Given the description of an element on the screen output the (x, y) to click on. 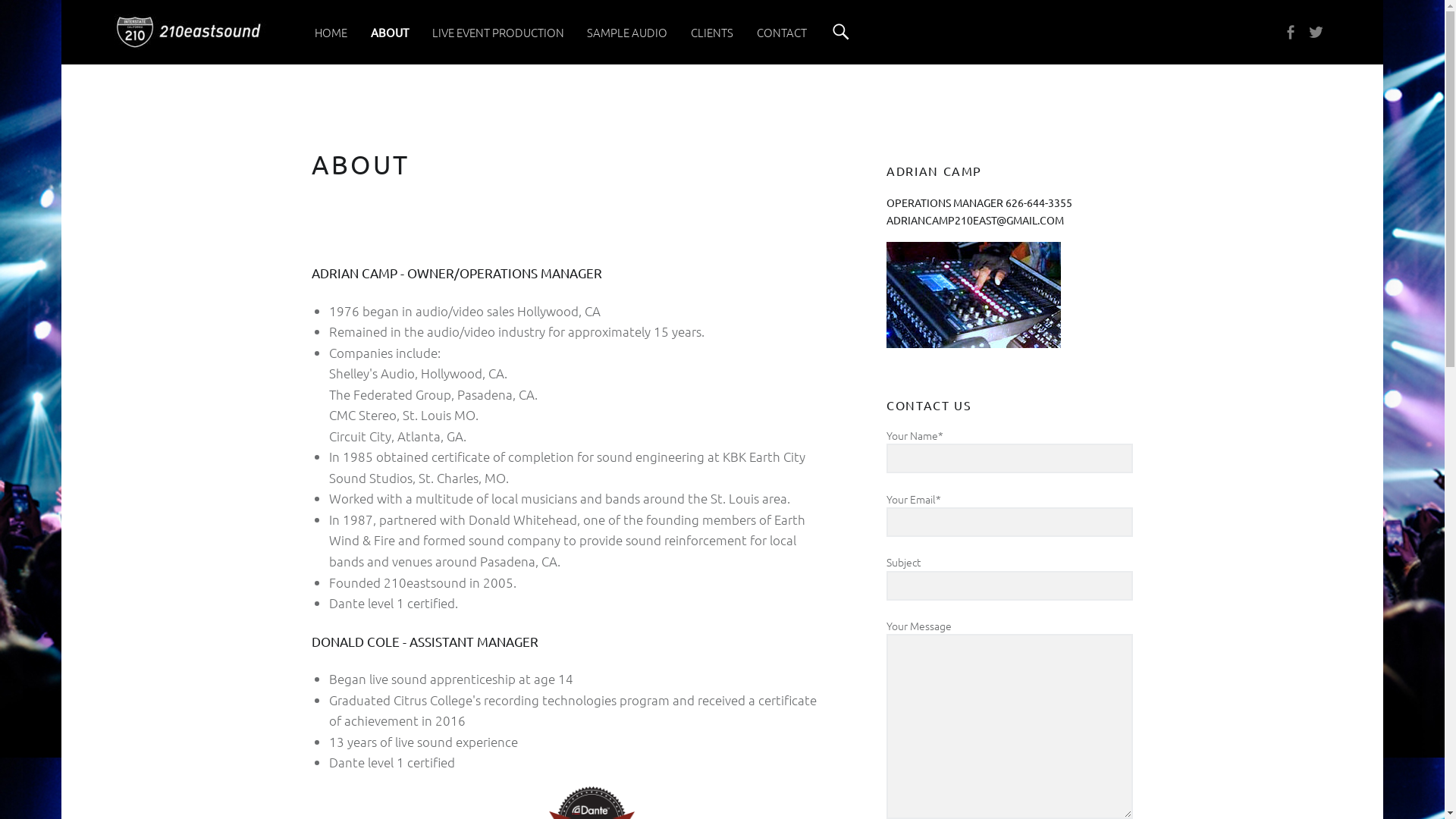
SAMPLE AUDIO Element type: text (626, 32)
Search Element type: text (840, 32)
CONTACT Element type: text (781, 32)
Facebook Element type: text (1293, 31)
LIVE EVENT PRODUCTION Element type: text (498, 32)
HOME Element type: text (330, 32)
ABOUT Element type: text (389, 32)
Twitter Element type: text (1319, 31)
CLIENTS Element type: text (711, 32)
